Given the description of an element on the screen output the (x, y) to click on. 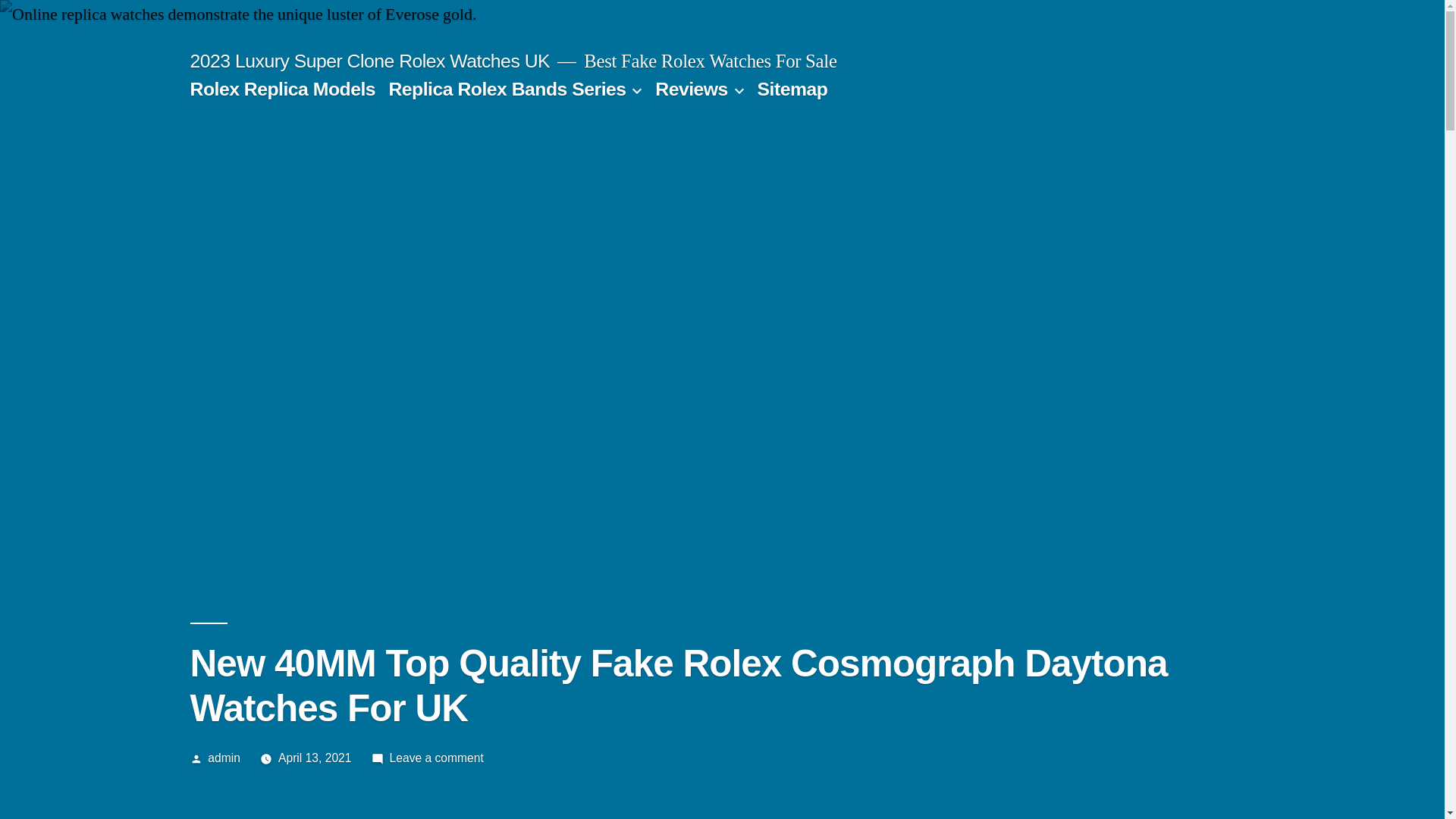
April 13, 2021 Element type: text (314, 757)
Replica Rolex Bands Series Element type: text (506, 88)
admin Element type: text (223, 757)
2023 Luxury Super Clone Rolex Watches UK Element type: text (369, 60)
Rolex Replica Models Element type: text (282, 88)
Sitemap Element type: text (791, 88)
Reviews Element type: text (691, 88)
